Given the description of an element on the screen output the (x, y) to click on. 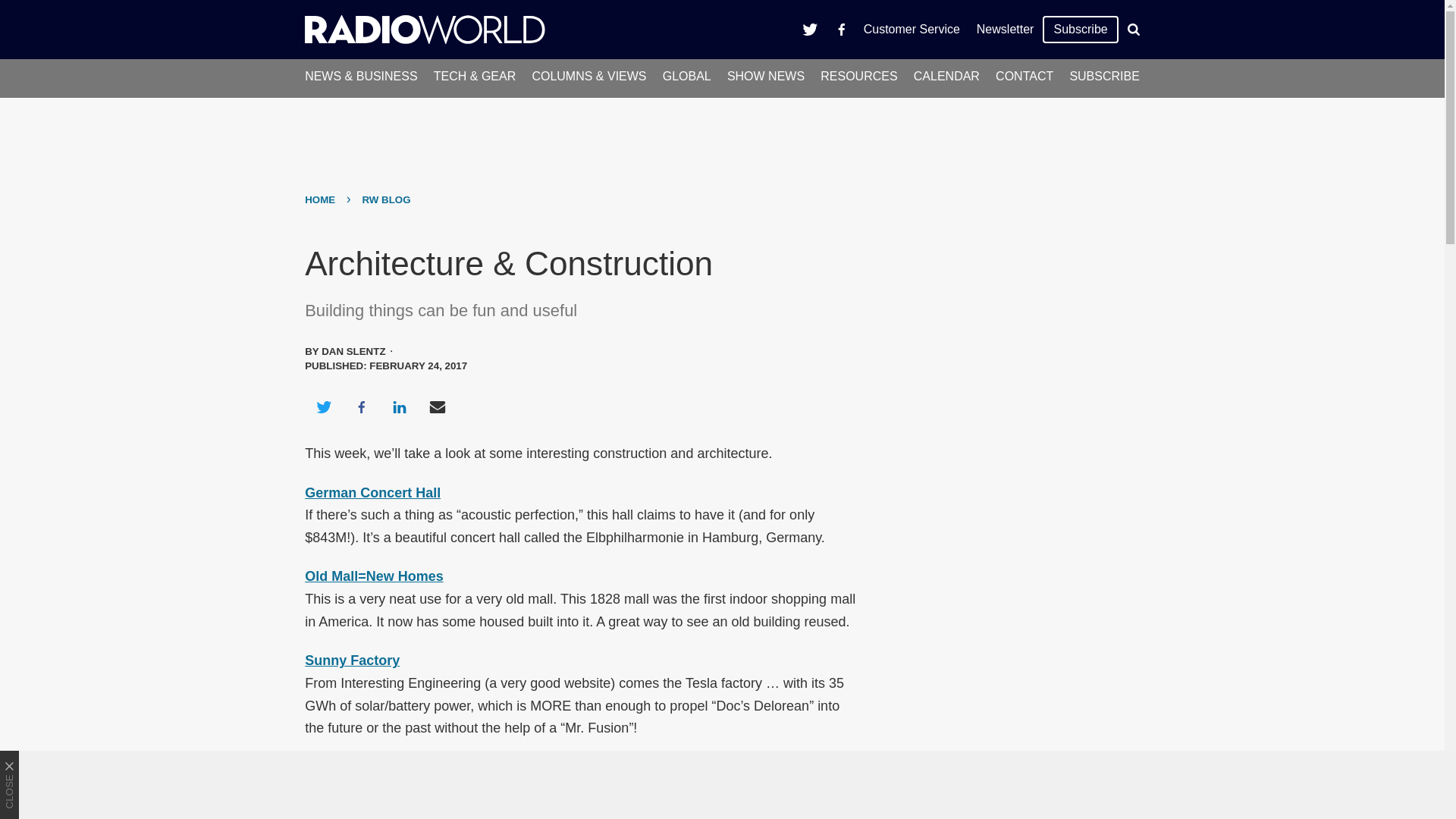
Share on Twitter (323, 406)
Share via Email (438, 406)
Share on LinkedIn (399, 406)
Customer Service (912, 29)
Share on Facebook (361, 406)
